Given the description of an element on the screen output the (x, y) to click on. 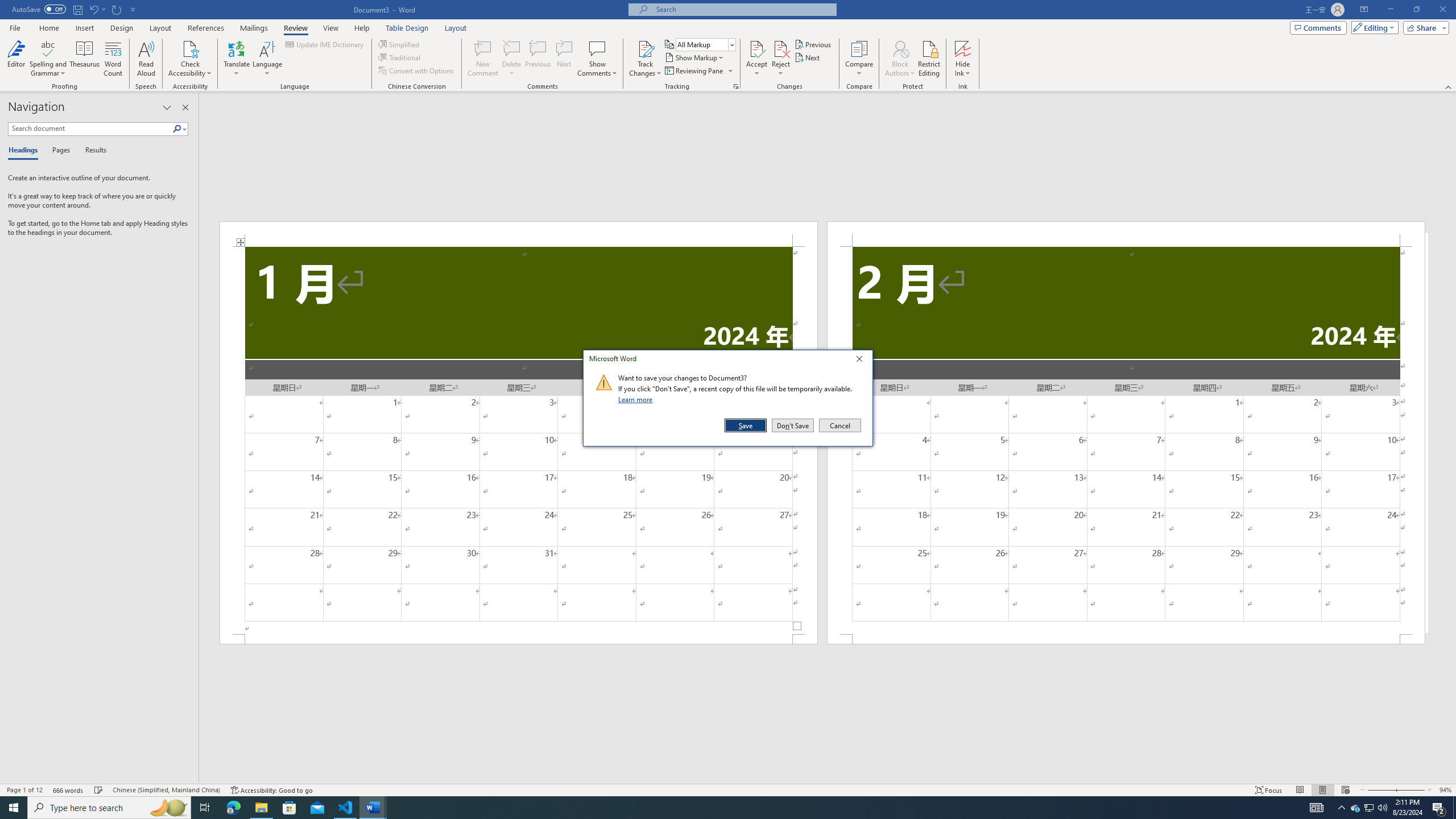
Accept and Move to Next (756, 48)
Microsoft Edge (233, 807)
Hide Ink (962, 48)
File Explorer - 1 running window (261, 807)
Restrict Editing (929, 58)
Reject (780, 58)
